Given the description of an element on the screen output the (x, y) to click on. 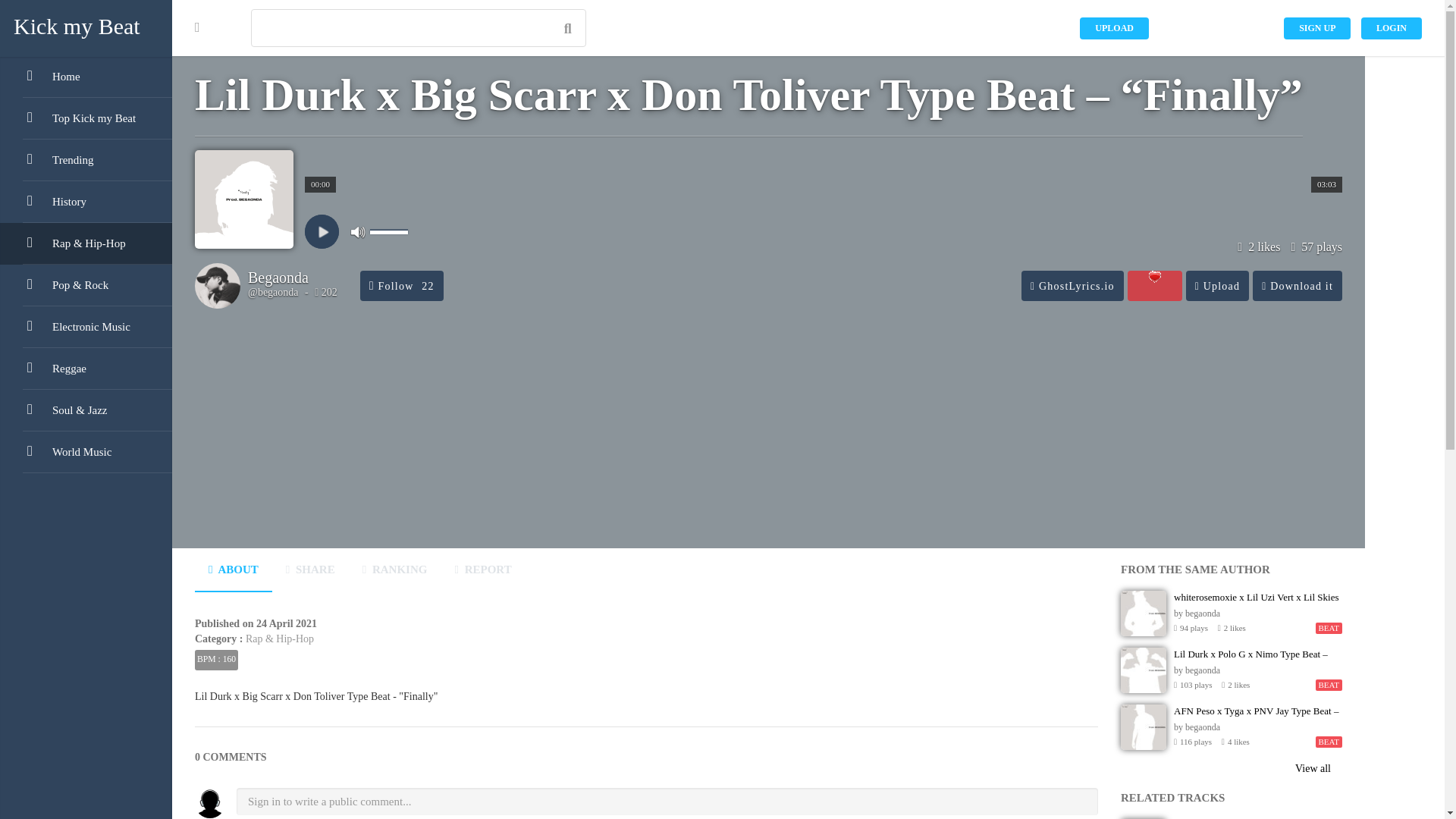
Top Kick my Beat (85, 118)
Begaonda (277, 279)
Trending (85, 159)
Electronic Music (85, 327)
World Music (85, 452)
Home (85, 76)
History (85, 201)
UPLOAD (1114, 28)
Kick my Beat (85, 26)
